Given the description of an element on the screen output the (x, y) to click on. 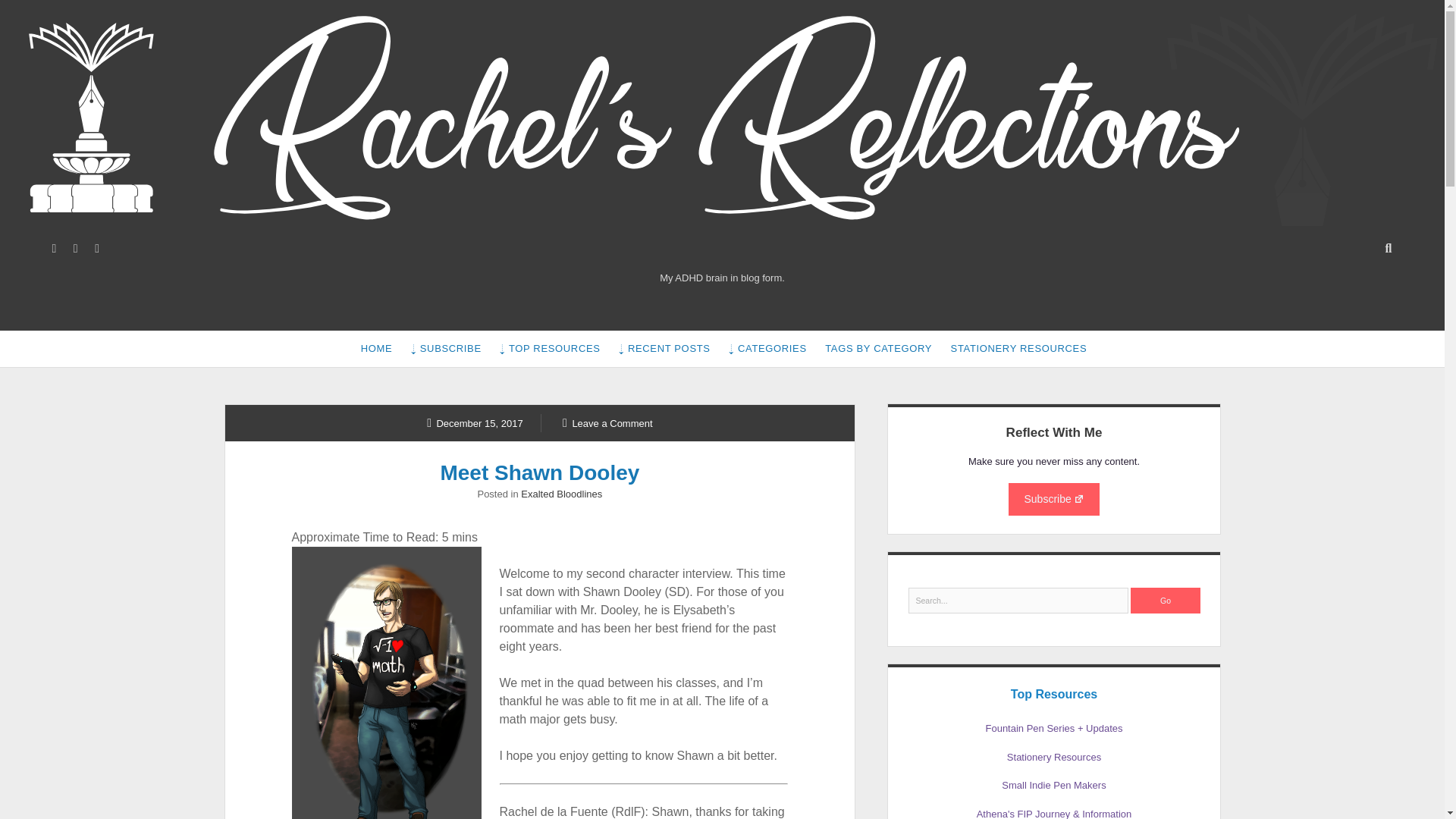
Go (1165, 600)
View all posts in Exalted Bloodlines (561, 493)
December 15, 2017 (474, 422)
HOME (376, 348)
Posts from December (474, 422)
STATIONERY RESOURCES (1019, 348)
Exalted Bloodlines (561, 493)
Go (1165, 600)
Comments for this post (607, 422)
Leave a Comment (607, 422)
